Given the description of an element on the screen output the (x, y) to click on. 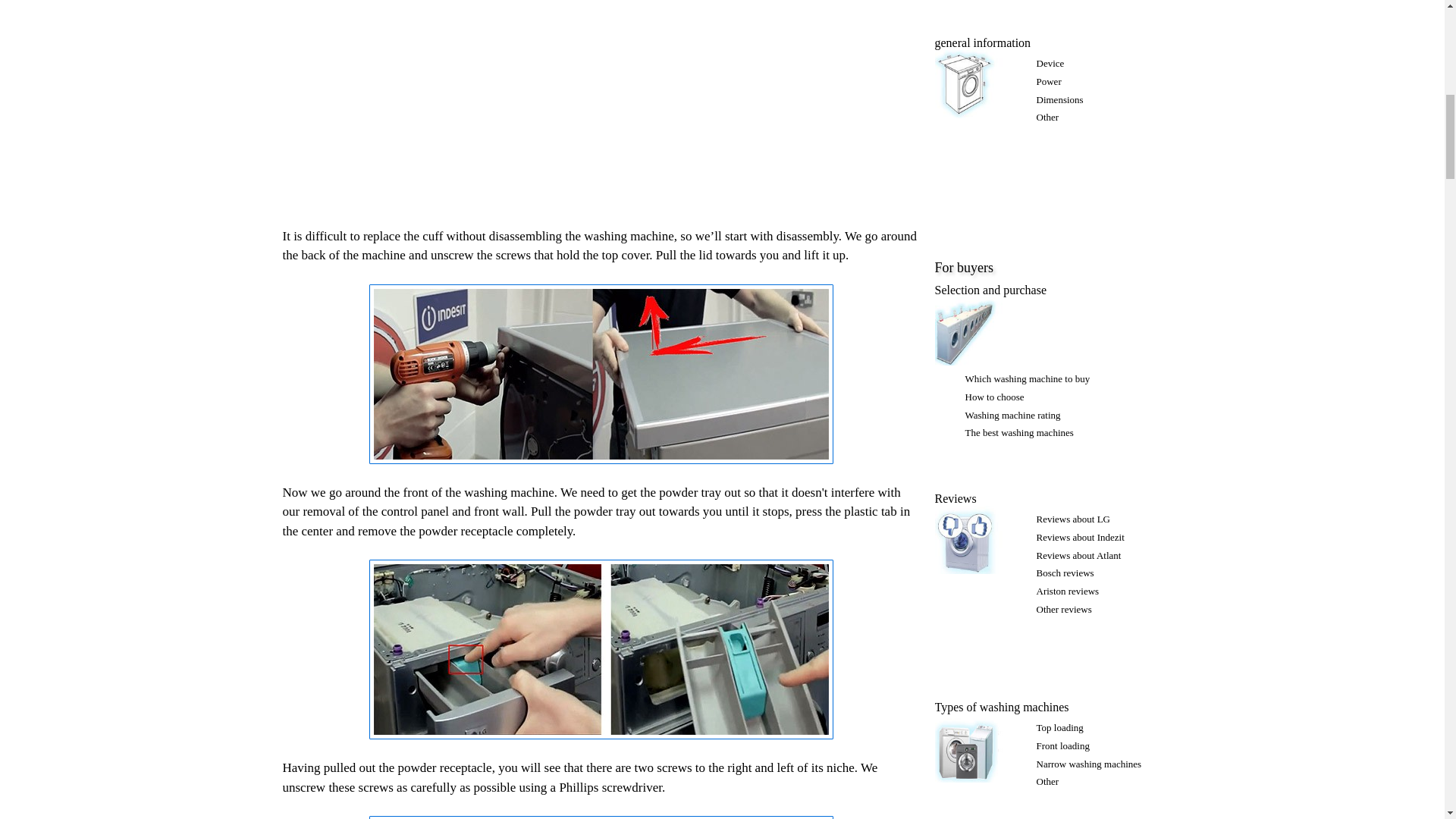
Which washing machine to buy (1026, 378)
Reviews (954, 498)
Device (1049, 62)
Advertisement (600, 104)
How to choose (993, 396)
The best washing machines (1018, 432)
Washing machine rating (1011, 414)
Selection and purchase (990, 289)
general information (982, 42)
Other (1046, 116)
Power (1048, 81)
Dimensions (1059, 99)
